Given the description of an element on the screen output the (x, y) to click on. 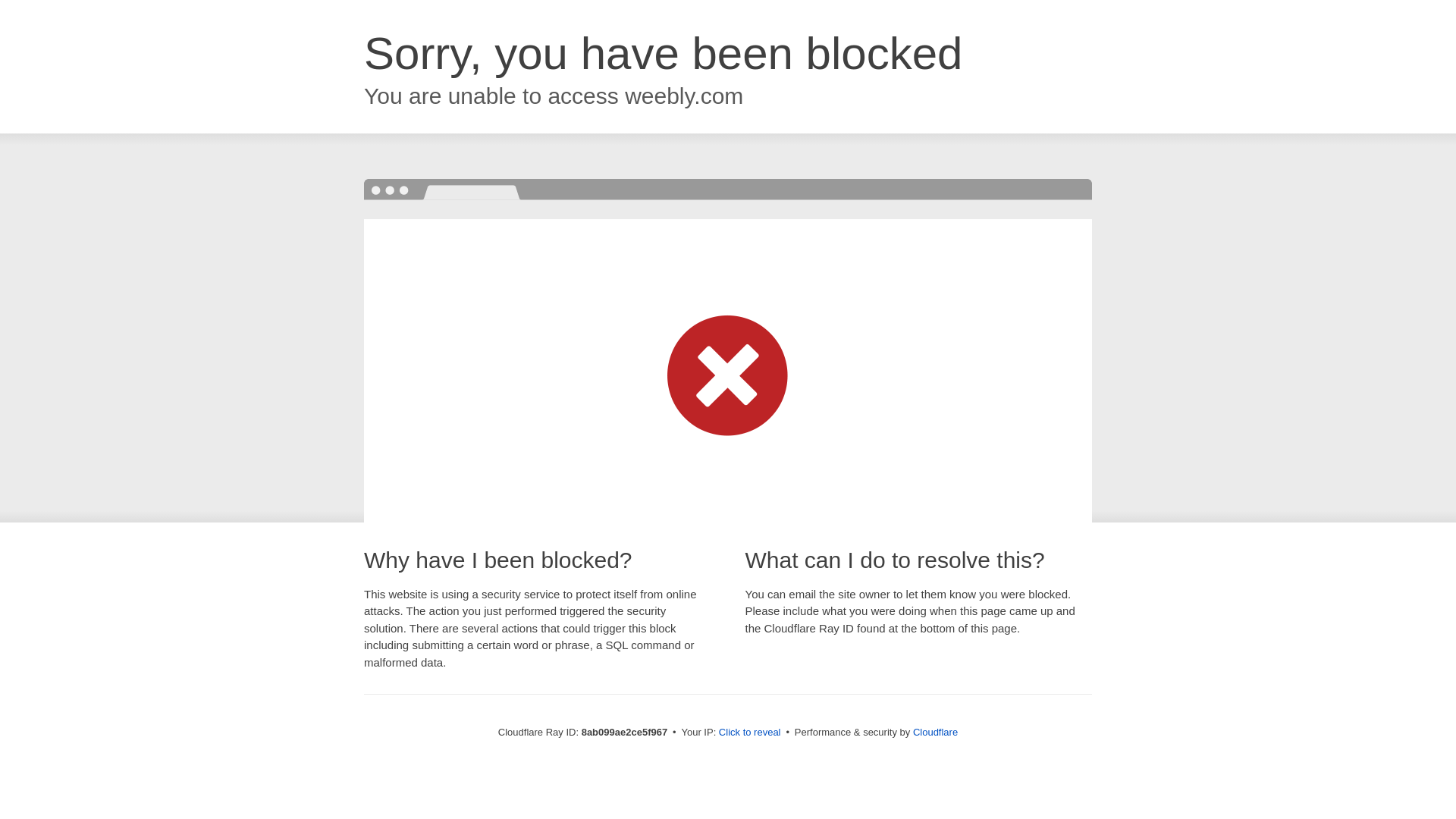
Click to reveal (749, 732)
Cloudflare (935, 731)
